Given the description of an element on the screen output the (x, y) to click on. 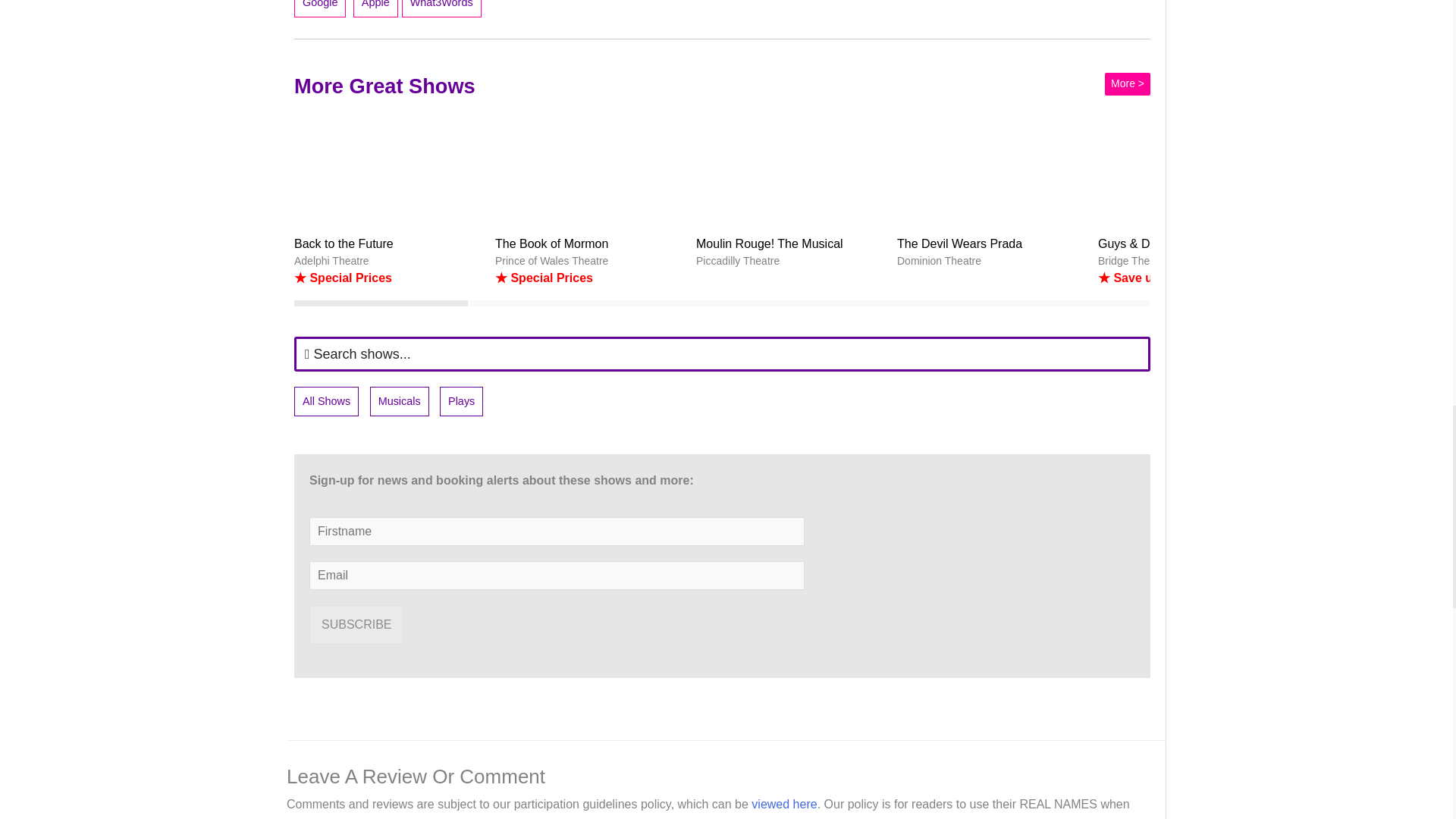
Back to the Future (388, 168)
Moulin Rouge! The Musical Tickets (790, 191)
Back to the Future: The Musical Tickets (388, 201)
The Book of Mormon Tickets (589, 201)
Moulin Rouge! The Musical (790, 168)
The Devil Wears Prada Tickets (991, 191)
The Devil Wears Prada (991, 168)
The Book of Mormon (589, 168)
